Given the description of an element on the screen output the (x, y) to click on. 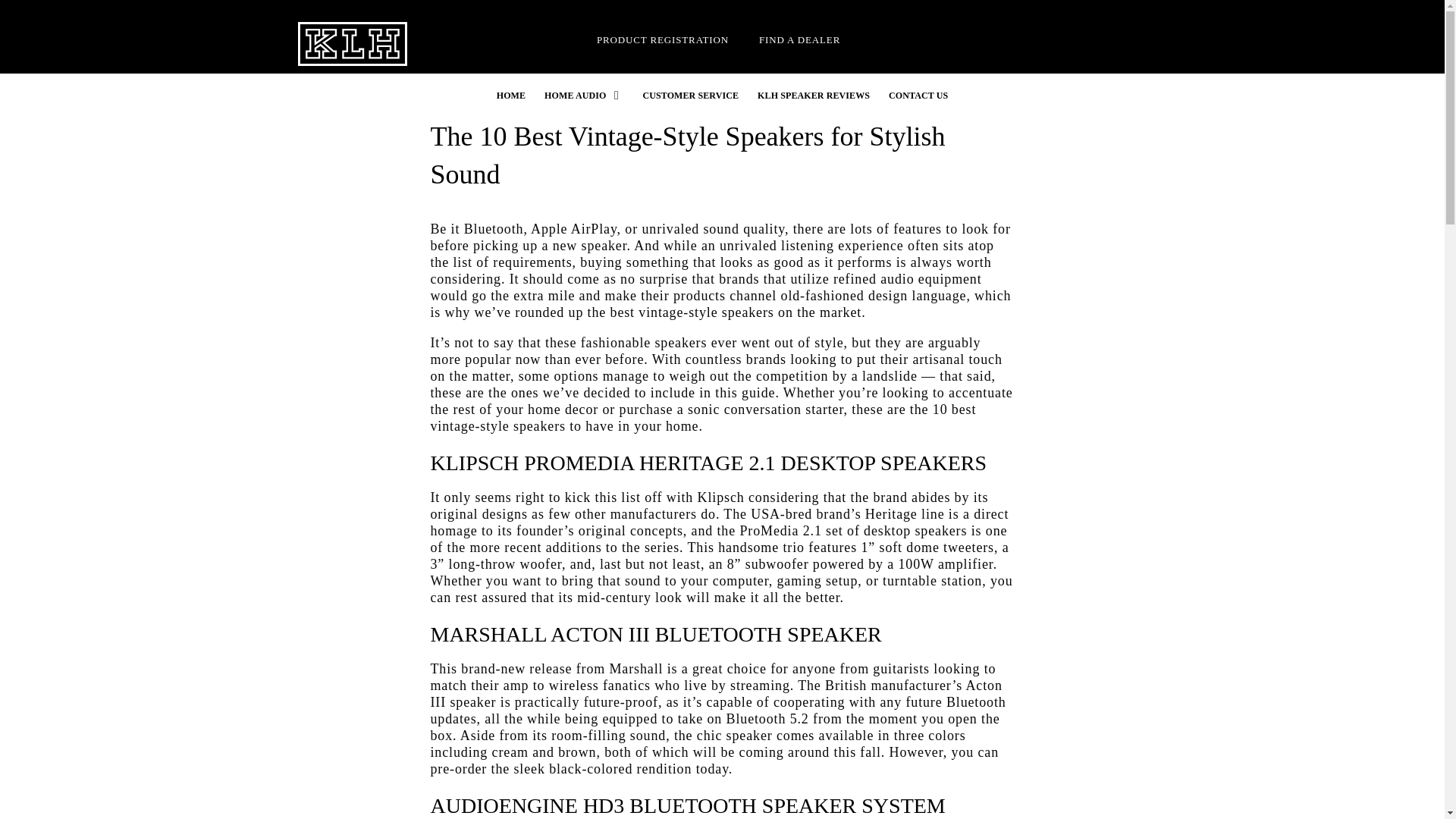
PRODUCT REGISTRATION (662, 40)
KLH Logo reverse 125 (352, 44)
FIND A DEALER (800, 40)
